Given the description of an element on the screen output the (x, y) to click on. 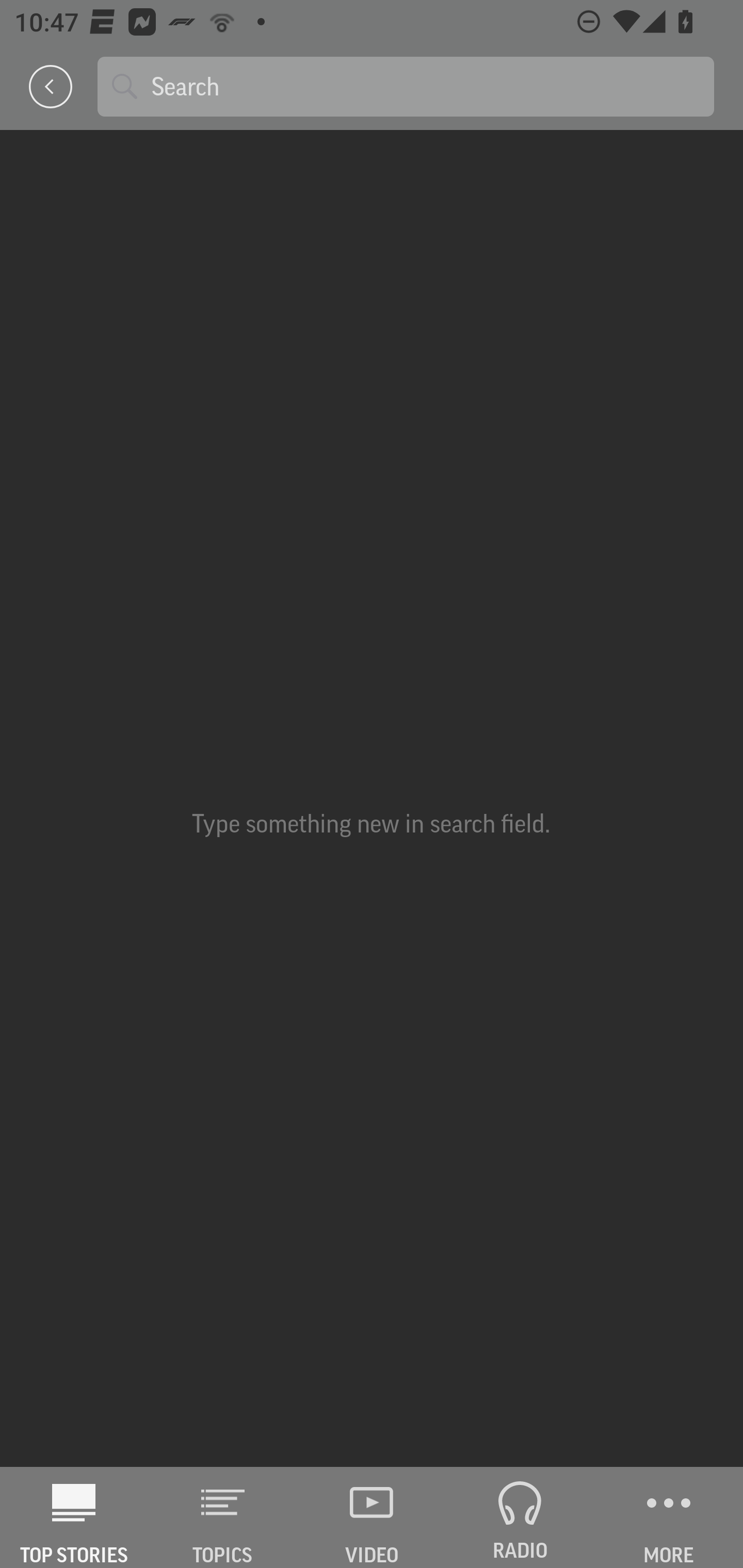
Search (425, 86)
AP News TOP STORIES (74, 1517)
TOPICS (222, 1517)
VIDEO (371, 1517)
RADIO (519, 1517)
MORE (668, 1517)
